Given the description of an element on the screen output the (x, y) to click on. 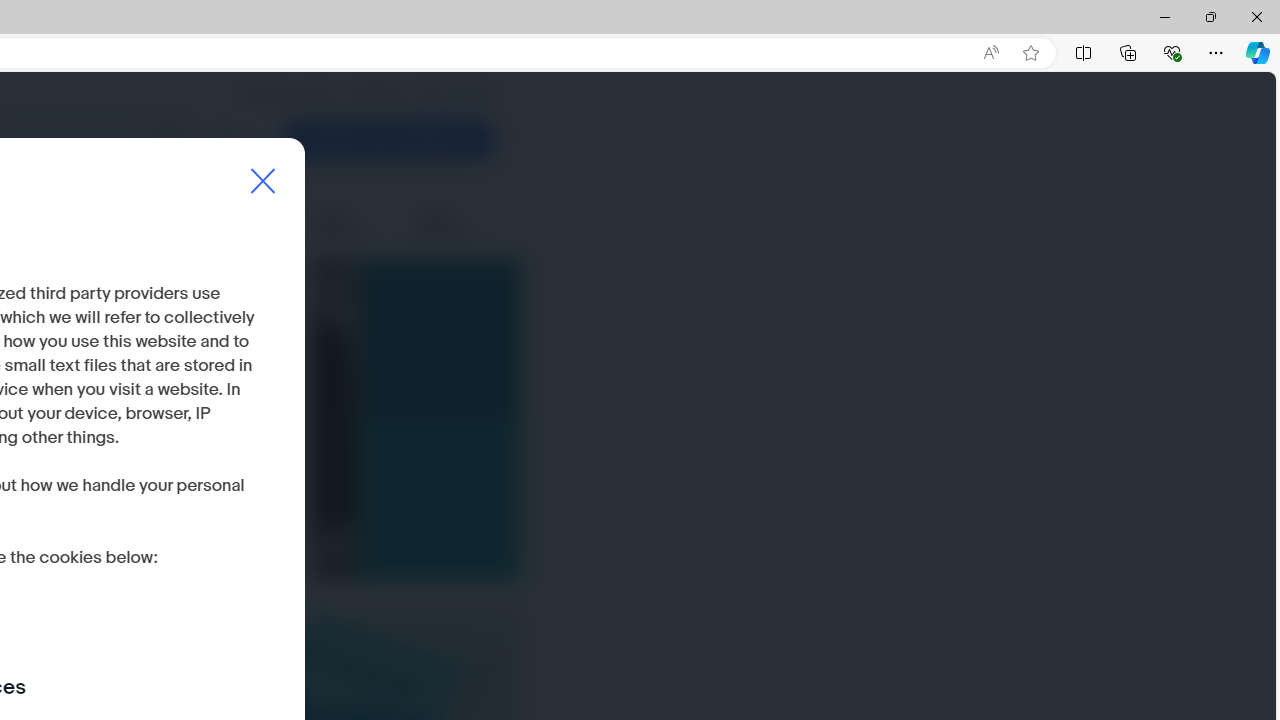
Regulations & policies (139, 225)
Seller updates (353, 225)
Class: header__toplink-icon (489, 95)
SEA (465, 95)
Accept All (205, 559)
Marketing (257, 226)
eBay Partners (457, 225)
Class: search-input__btn (168, 139)
Create Your Listing (388, 139)
